Given the description of an element on the screen output the (x, y) to click on. 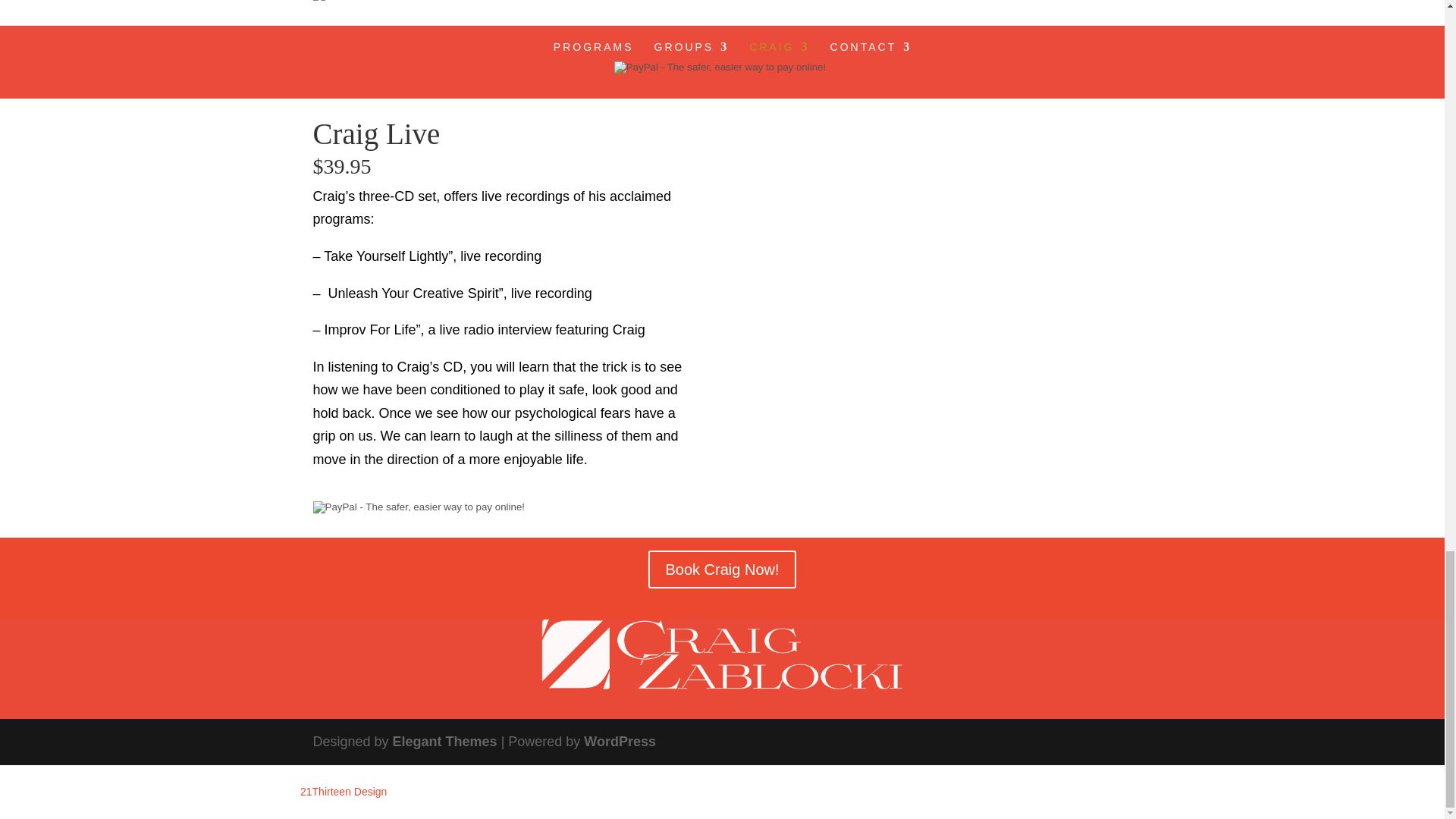
Book Craig Now! (720, 569)
WordPress (619, 741)
Elegant Themes (445, 741)
Premium WordPress Themes (445, 741)
21Thirteen Design (343, 791)
